Given the description of an element on the screen output the (x, y) to click on. 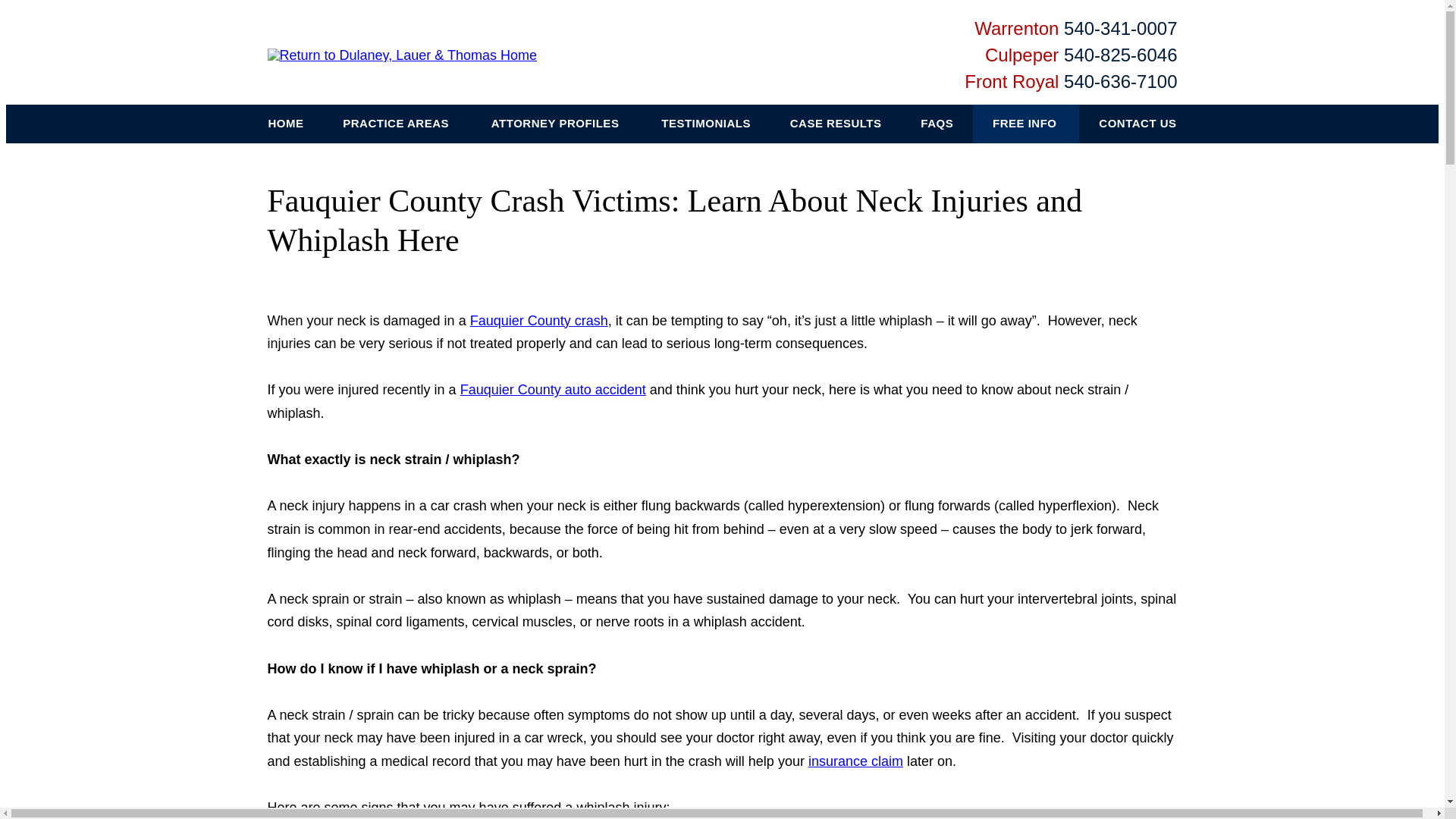
PRACTICE AREAS (397, 123)
ATTORNEY PROFILES (556, 123)
CONTACT US (1136, 123)
insurance claim (855, 761)
HOME (285, 123)
CASE RESULTS (835, 123)
FAQS (936, 123)
TESTIMONIALS (706, 123)
FREE INFO (1025, 123)
Fauquier County crash (539, 320)
Fauquier County auto accident (553, 389)
